Given the description of an element on the screen output the (x, y) to click on. 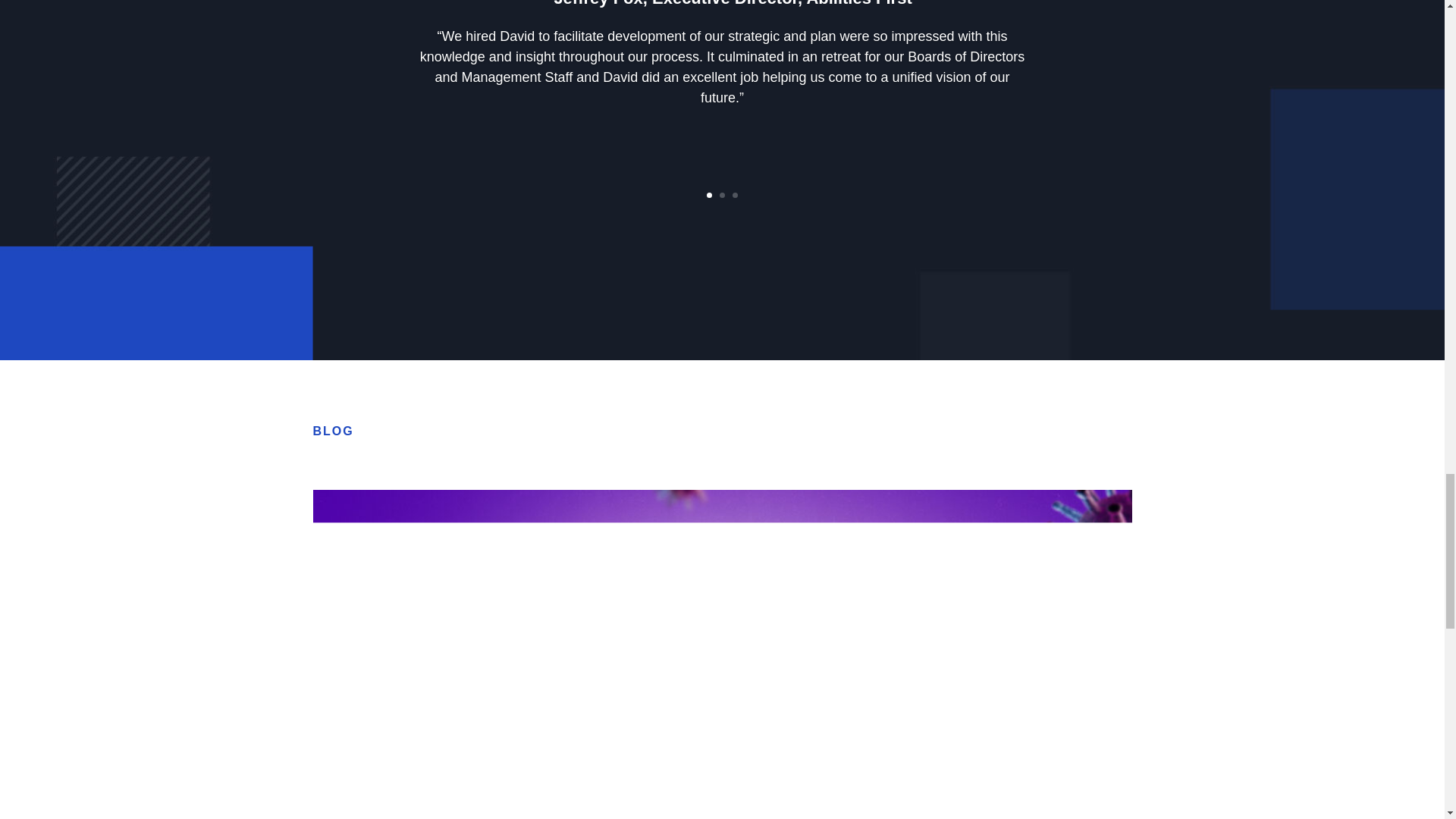
2 (722, 195)
3 (735, 195)
1 (708, 195)
